Given the description of an element on the screen output the (x, y) to click on. 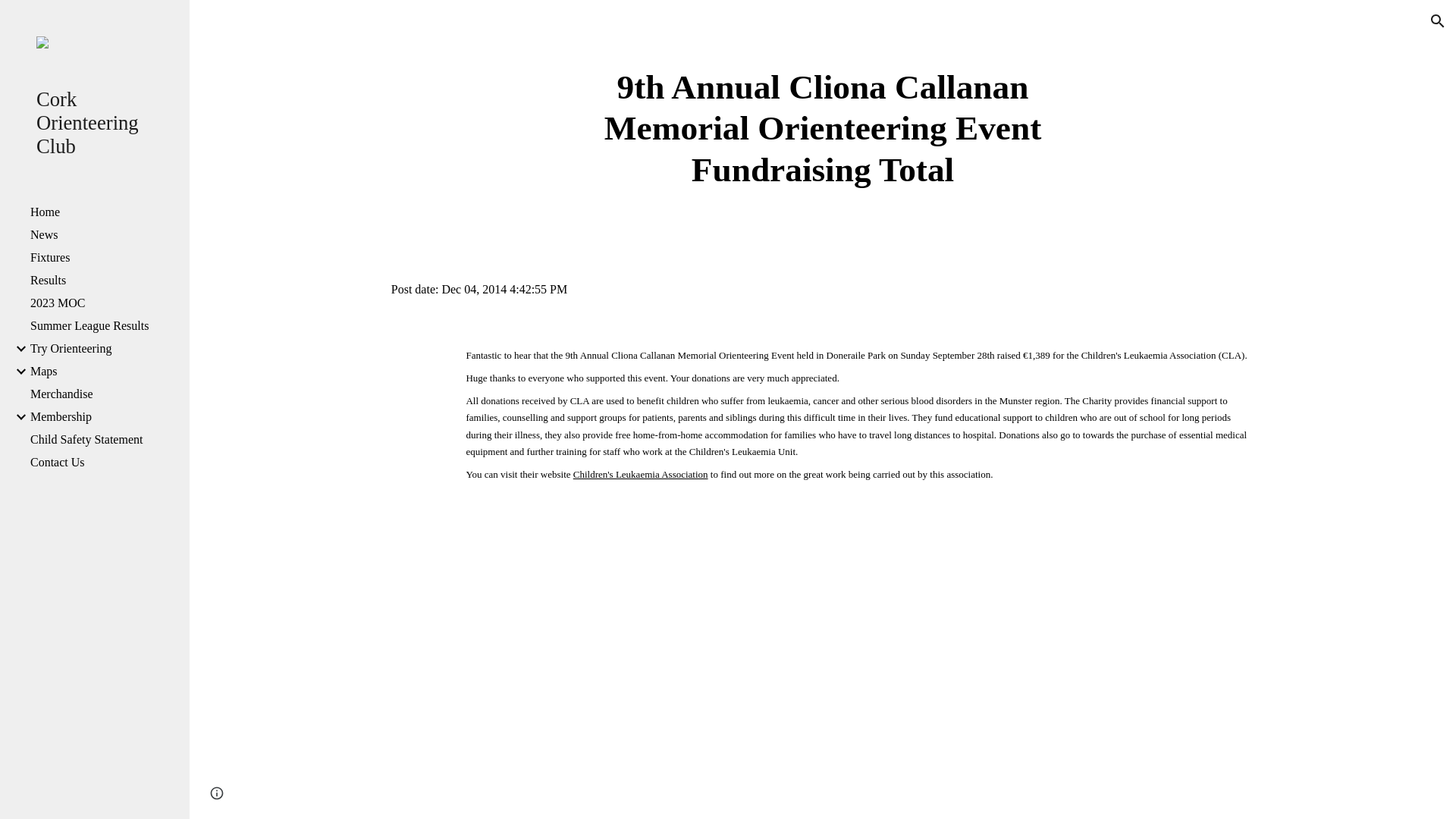
Membership (103, 417)
Try Orienteering (103, 348)
Fixtures (103, 257)
Maps (103, 371)
Contact Us (103, 462)
Merchandise (103, 394)
Child Safety Statement (103, 439)
Cork Orienteering Club (100, 122)
Results (103, 280)
News (103, 234)
2023 MOC (103, 303)
Summer League Results (103, 325)
Home (103, 212)
